Given the description of an element on the screen output the (x, y) to click on. 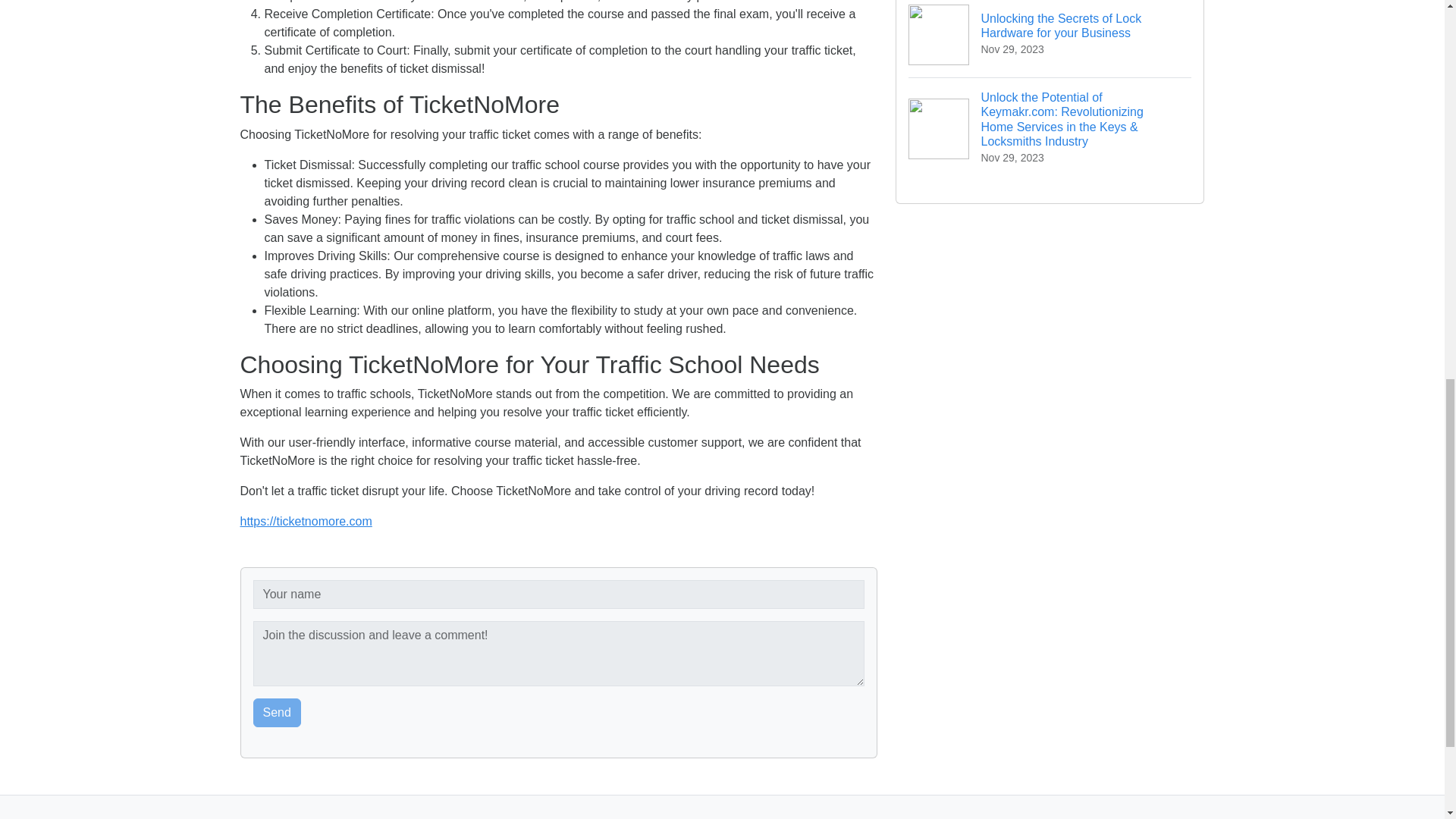
Send (277, 712)
Send (277, 712)
